Given the description of an element on the screen output the (x, y) to click on. 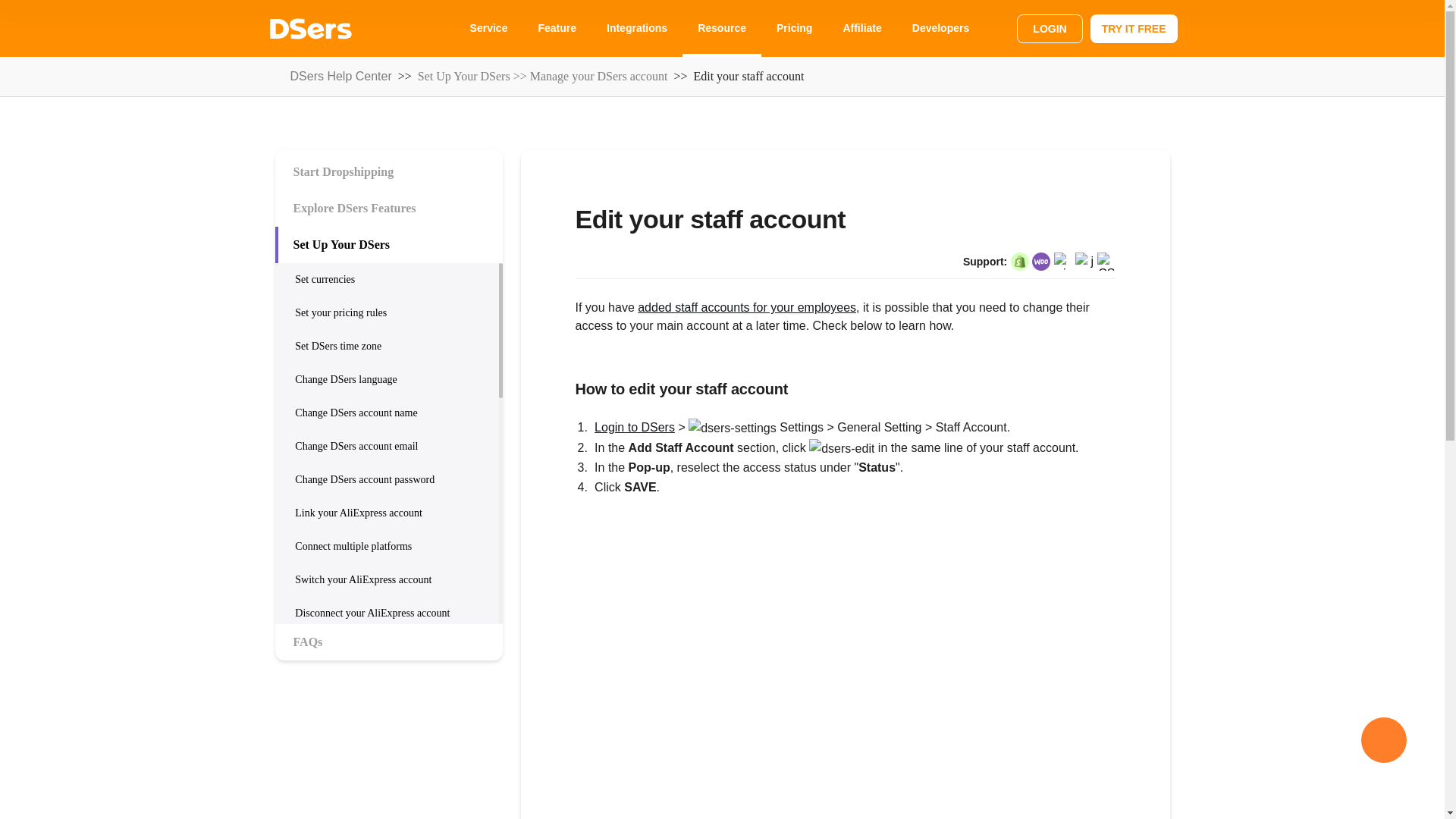
Developers (940, 28)
Affiliate (861, 28)
Service (488, 28)
TRY IT FREE (1133, 27)
LOGIN (1048, 27)
Pricing (794, 28)
